Given the description of an element on the screen output the (x, y) to click on. 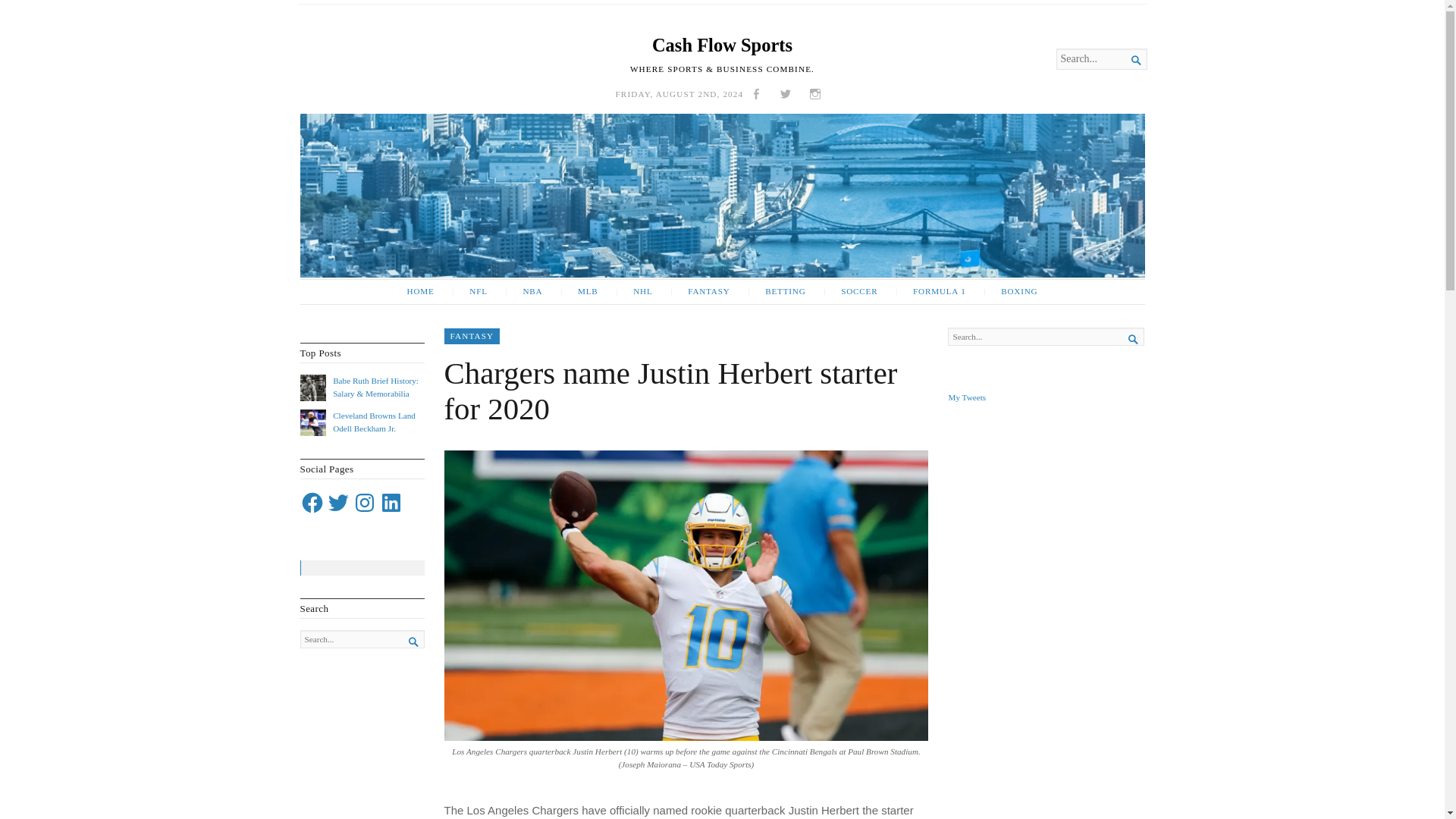
NHL (633, 291)
FANTASY (472, 335)
Instagram (364, 502)
Twitter (338, 502)
MLB (579, 291)
Cleveland Browns Land Odell Beckham Jr. (373, 422)
FANTASY (699, 291)
Cash Flow Sports (722, 45)
NBA (523, 291)
BETTING (775, 291)
NFL (469, 291)
FORMULA 1 (931, 291)
BOXING (1010, 291)
Cleveland Browns Land Odell Beckham Jr. (373, 422)
